Given the description of an element on the screen output the (x, y) to click on. 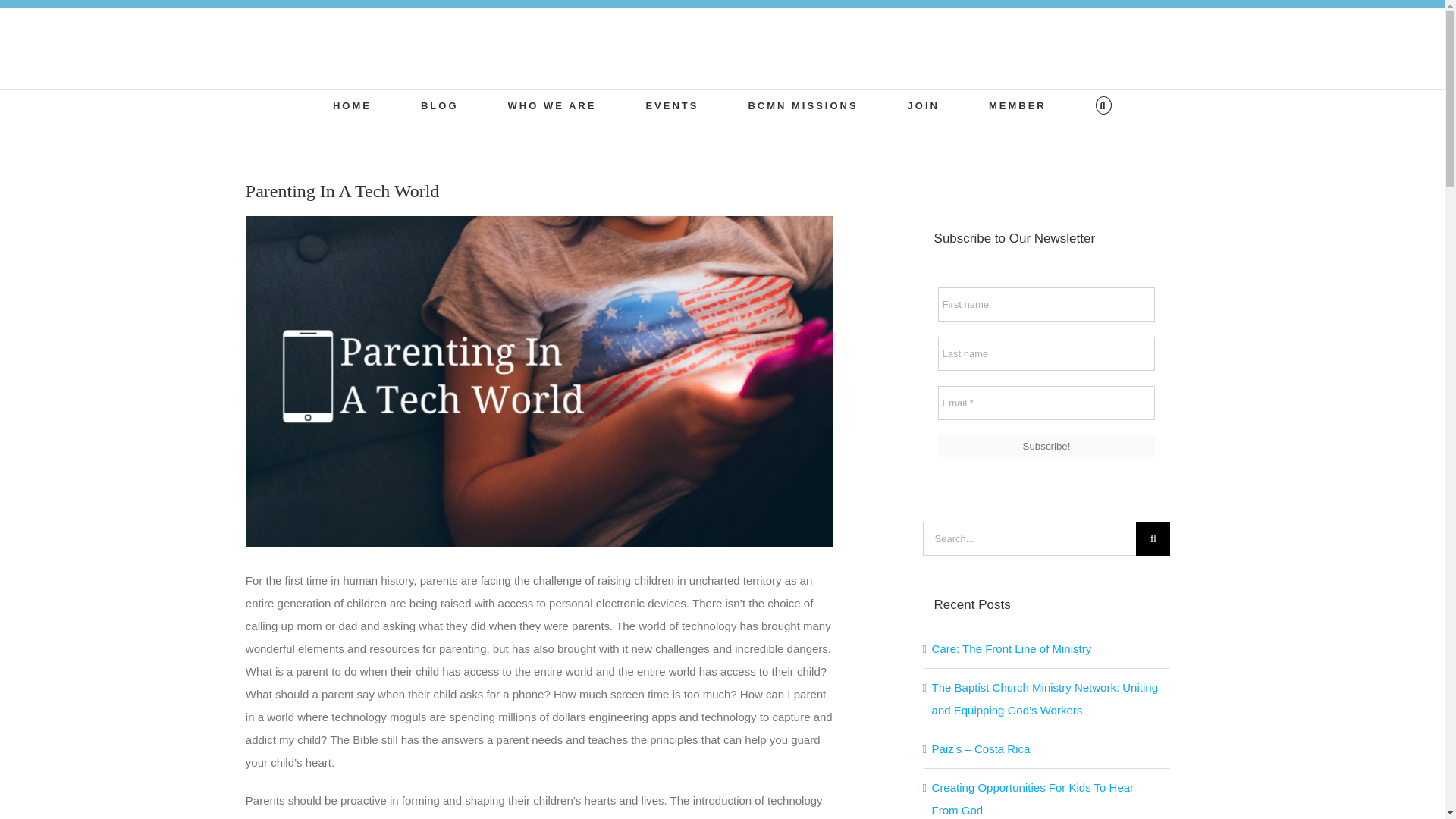
MEMBER (1017, 105)
JOIN (923, 105)
HOME (352, 105)
BLOG (439, 105)
Subscribe! (1046, 445)
EVENTS (671, 105)
BCMN MISSIONS (802, 105)
WHO WE ARE (552, 105)
